Given the description of an element on the screen output the (x, y) to click on. 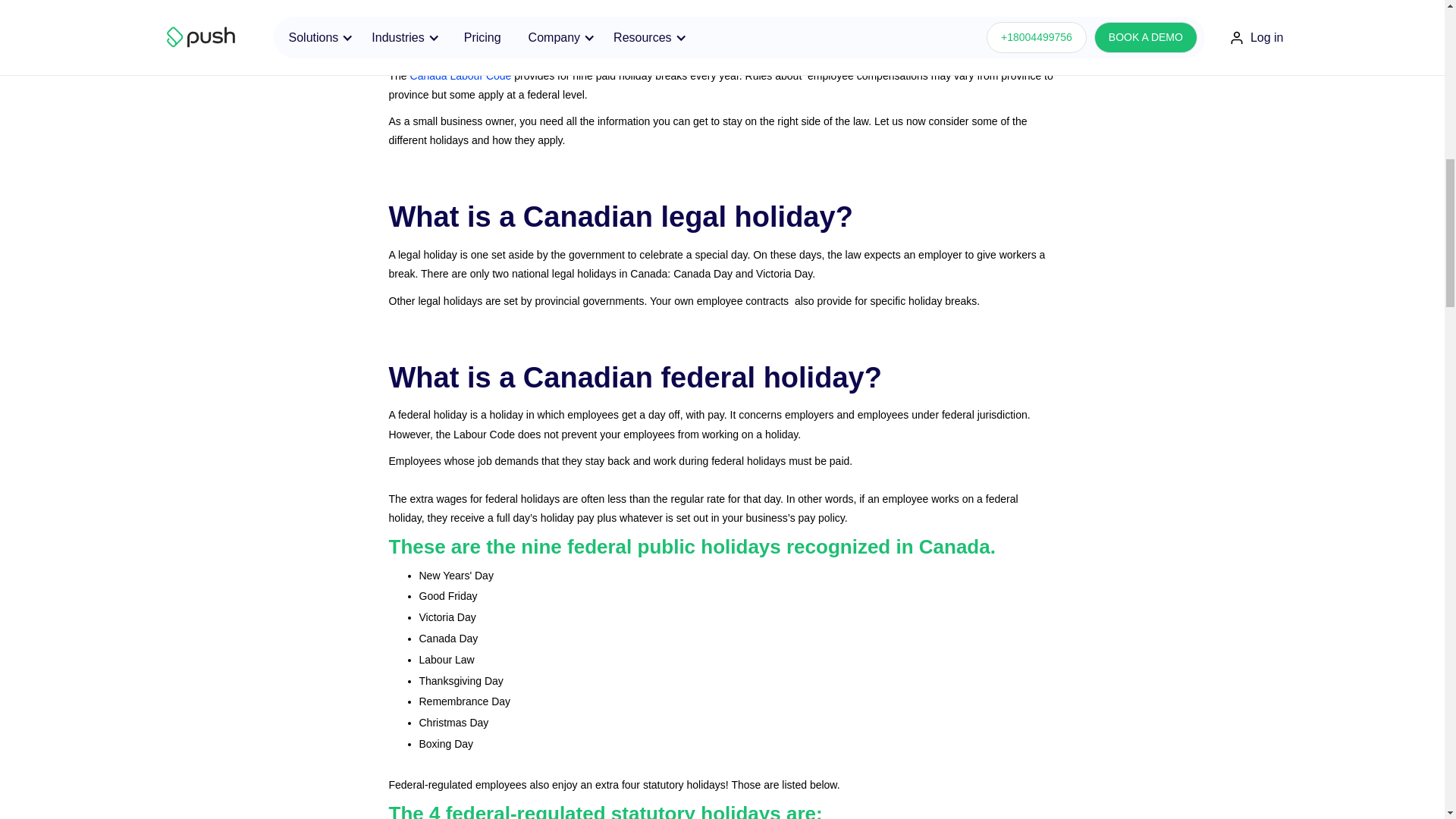
giving workers breaks during major holidays (718, 38)
Canada Labour Code (461, 75)
